Given the description of an element on the screen output the (x, y) to click on. 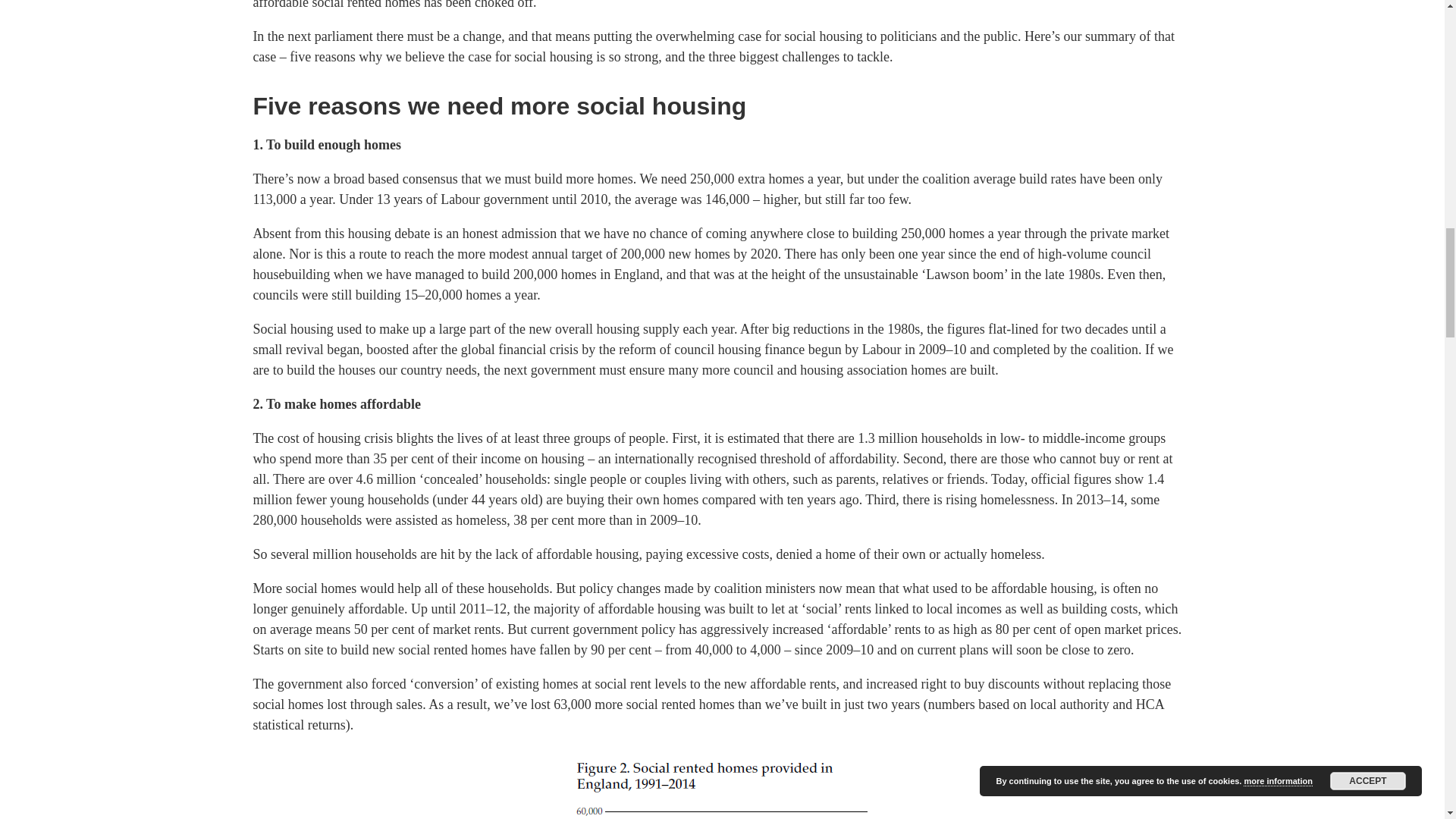
Healey graph 2 (722, 784)
